Given the description of an element on the screen output the (x, y) to click on. 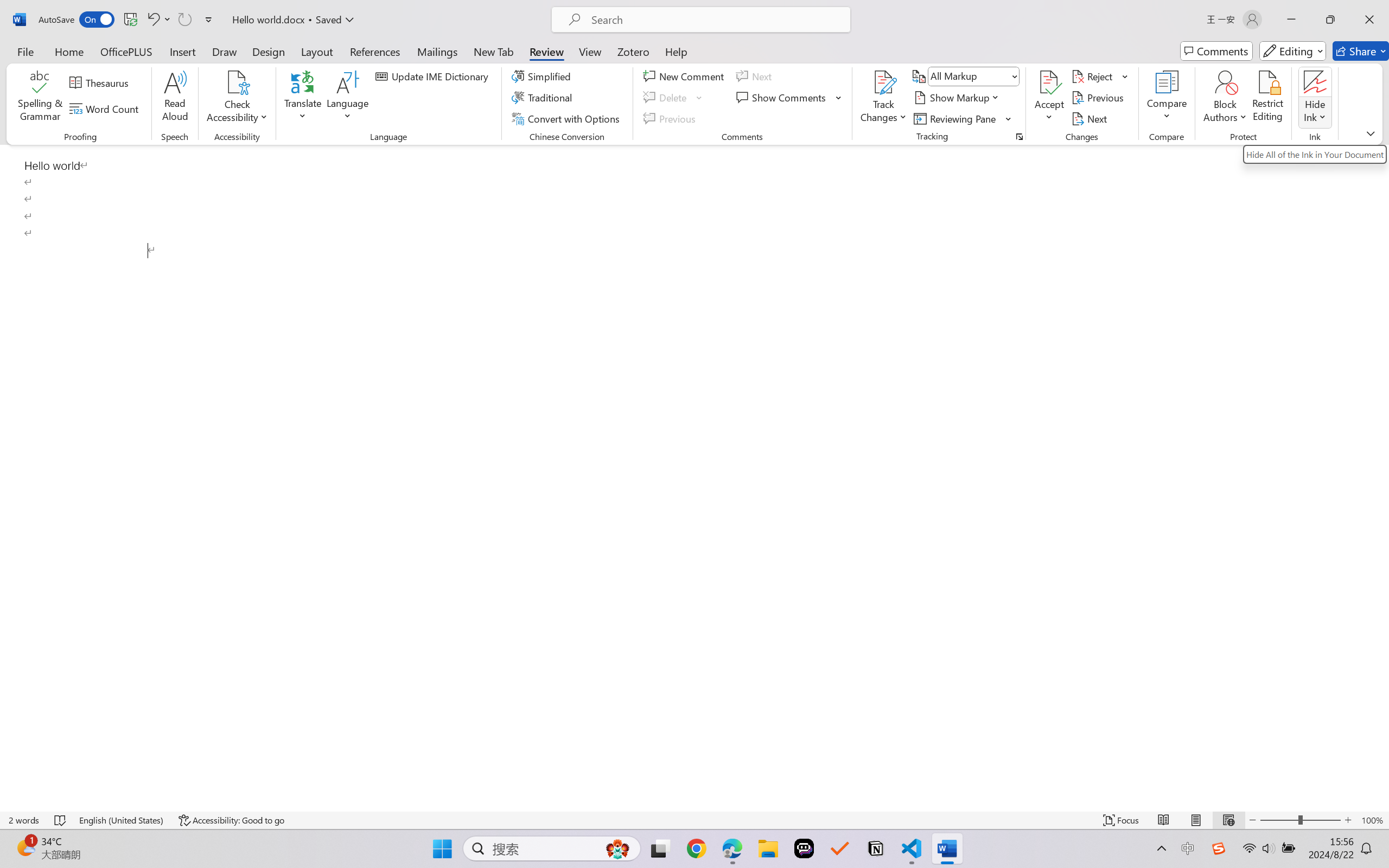
Show Comments (788, 97)
Show Markup (957, 97)
Delete (666, 97)
Zoom In (1348, 819)
Ribbon Display Options (1370, 132)
Accessibility Checker Accessibility: Good to go (231, 819)
Track Changes (883, 97)
Zoom Out (1278, 819)
Compare (1166, 97)
Class: NetUIScrollBar (1382, 477)
Review (546, 51)
Delete (673, 97)
Can't Repeat (184, 19)
Word Count (105, 108)
Reject and Move to Next (1093, 75)
